Given the description of an element on the screen output the (x, y) to click on. 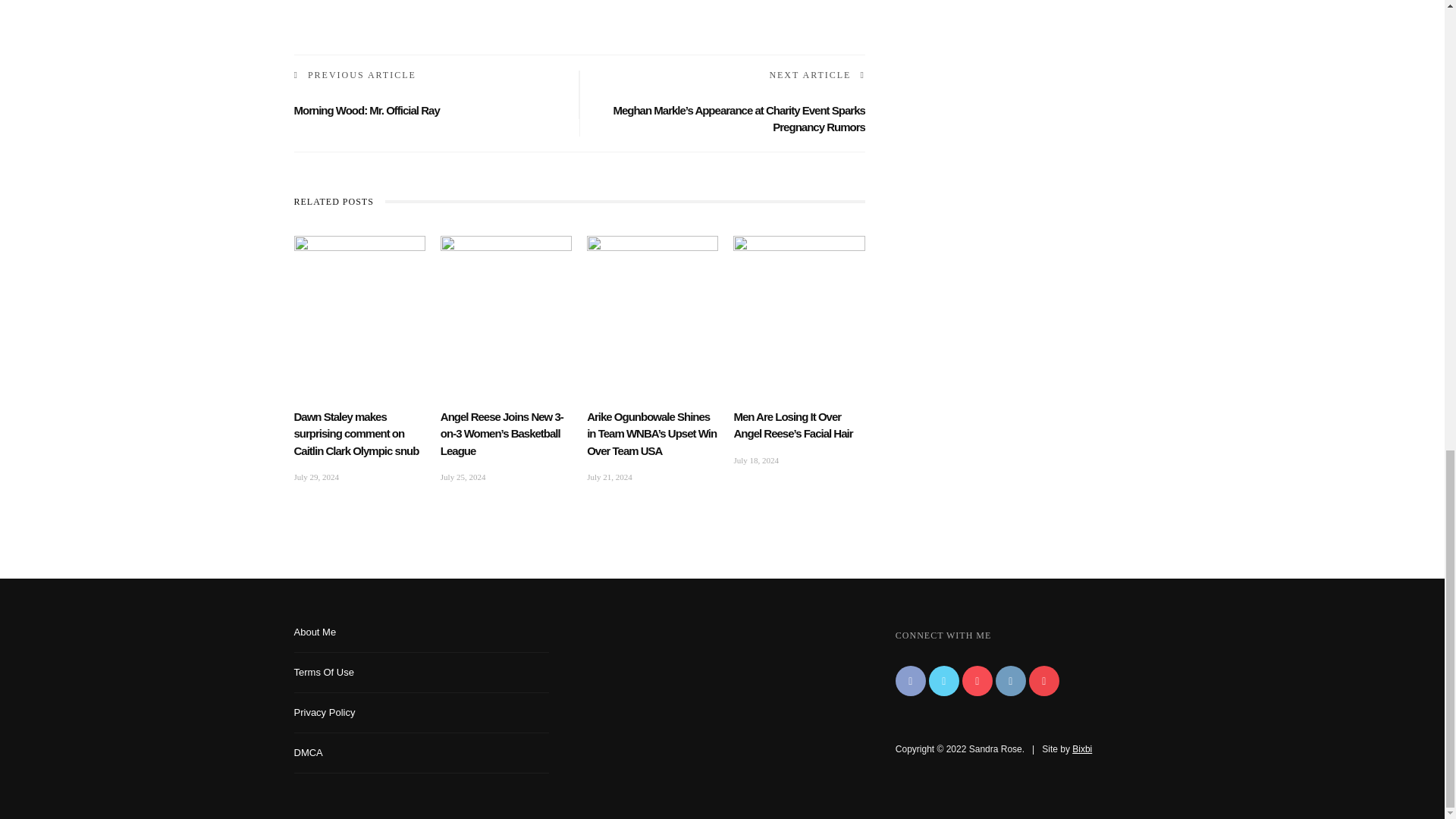
Morning Wood: Mr. Official Ray (366, 110)
